Given the description of an element on the screen output the (x, y) to click on. 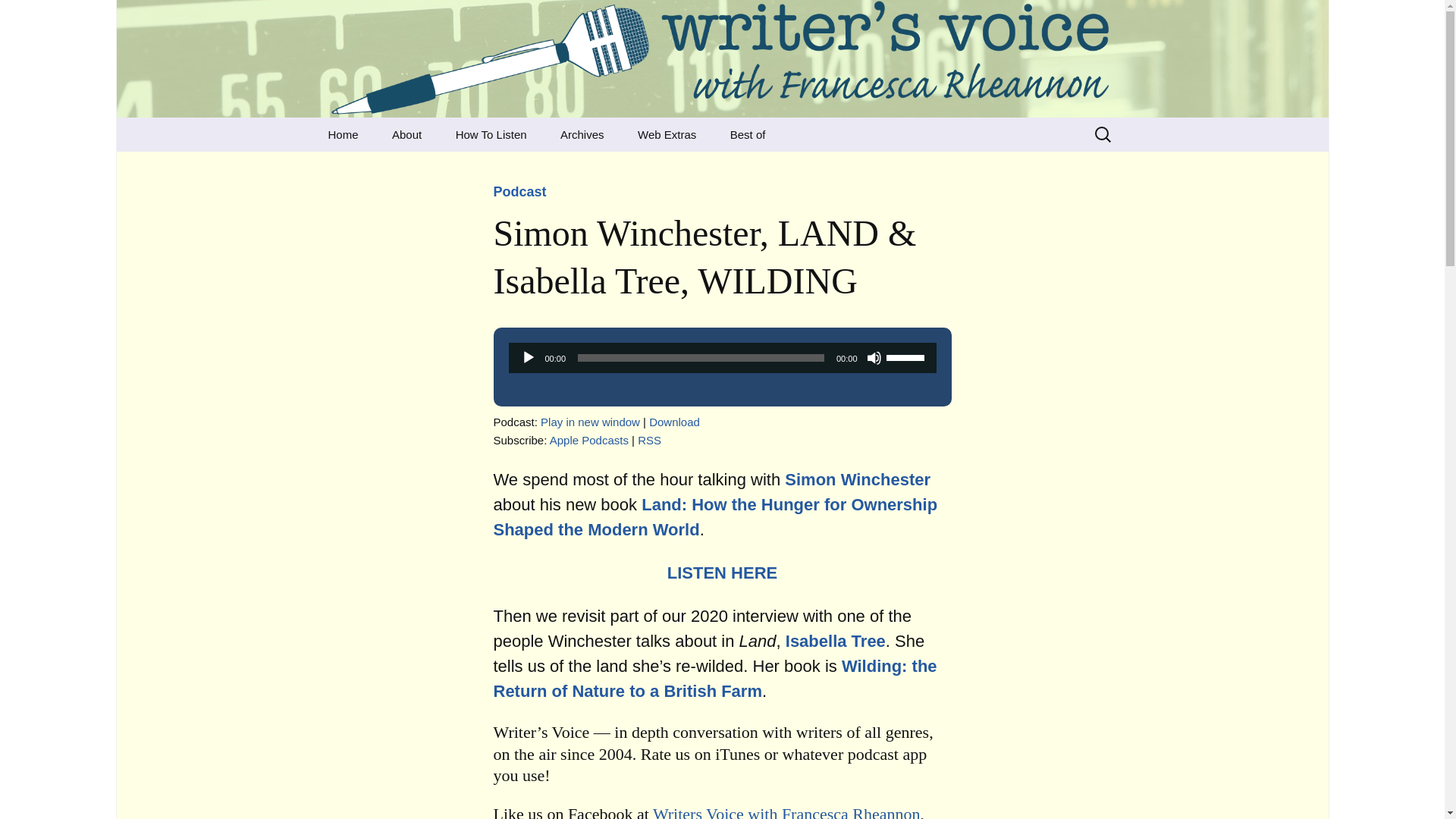
Subscribe on Apple Podcasts (589, 440)
The River Runs Through Us (620, 174)
Writers Voice with Francesca Rheannon (786, 811)
How To Listen (491, 134)
Home (342, 134)
LISTEN HERE (721, 572)
Land: How the Hunger for Ownership Shaped the Modern World (715, 516)
RSS (649, 440)
Archives (582, 134)
About (406, 134)
